Given the description of an element on the screen output the (x, y) to click on. 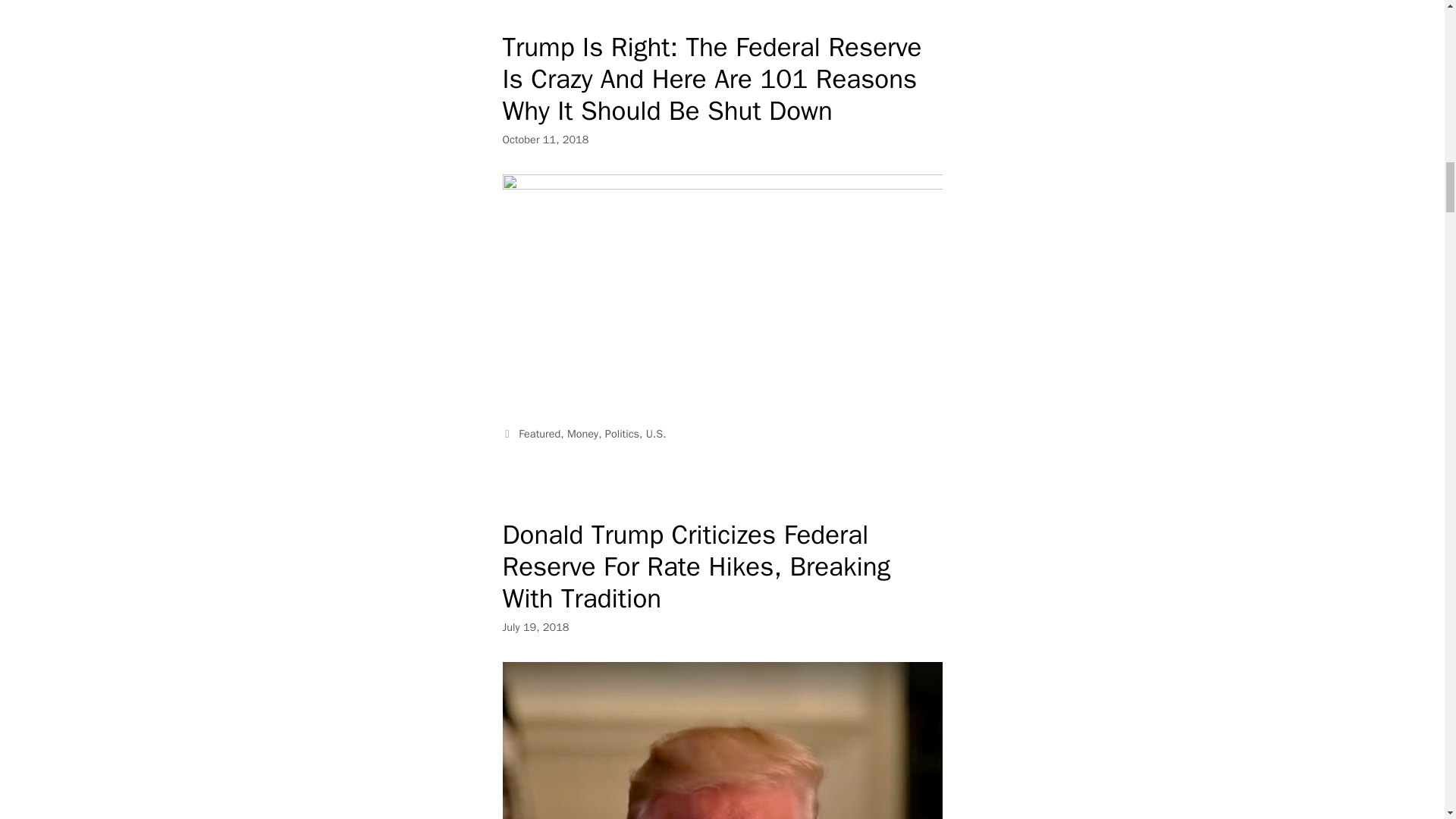
Politics (622, 433)
Featured (539, 433)
Money (582, 433)
U.S. (656, 433)
